Given the description of an element on the screen output the (x, y) to click on. 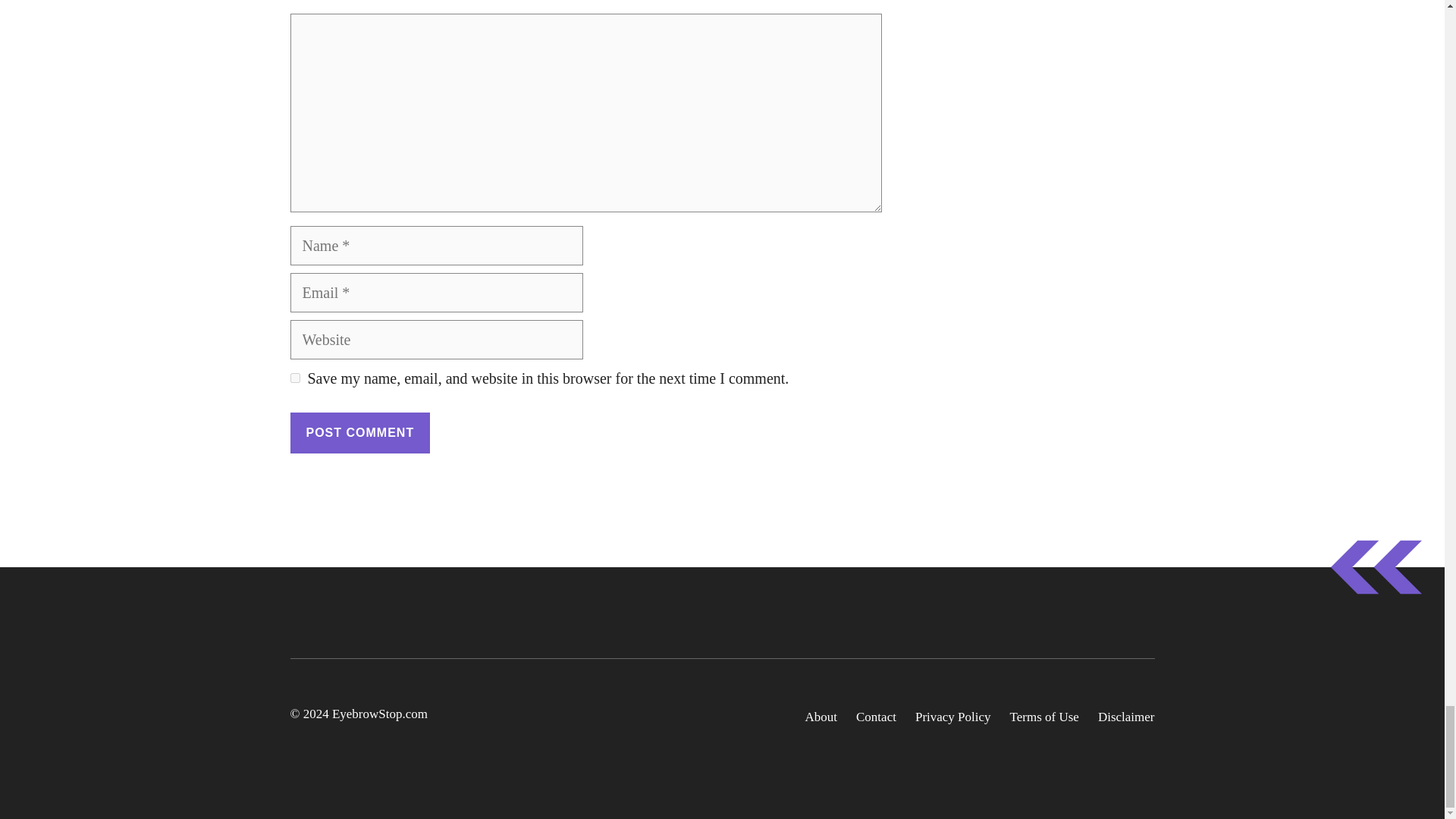
About (821, 717)
yes (294, 378)
Contact (876, 717)
Privacy Policy (953, 717)
Post Comment (359, 432)
Post Comment (359, 432)
